Given the description of an element on the screen output the (x, y) to click on. 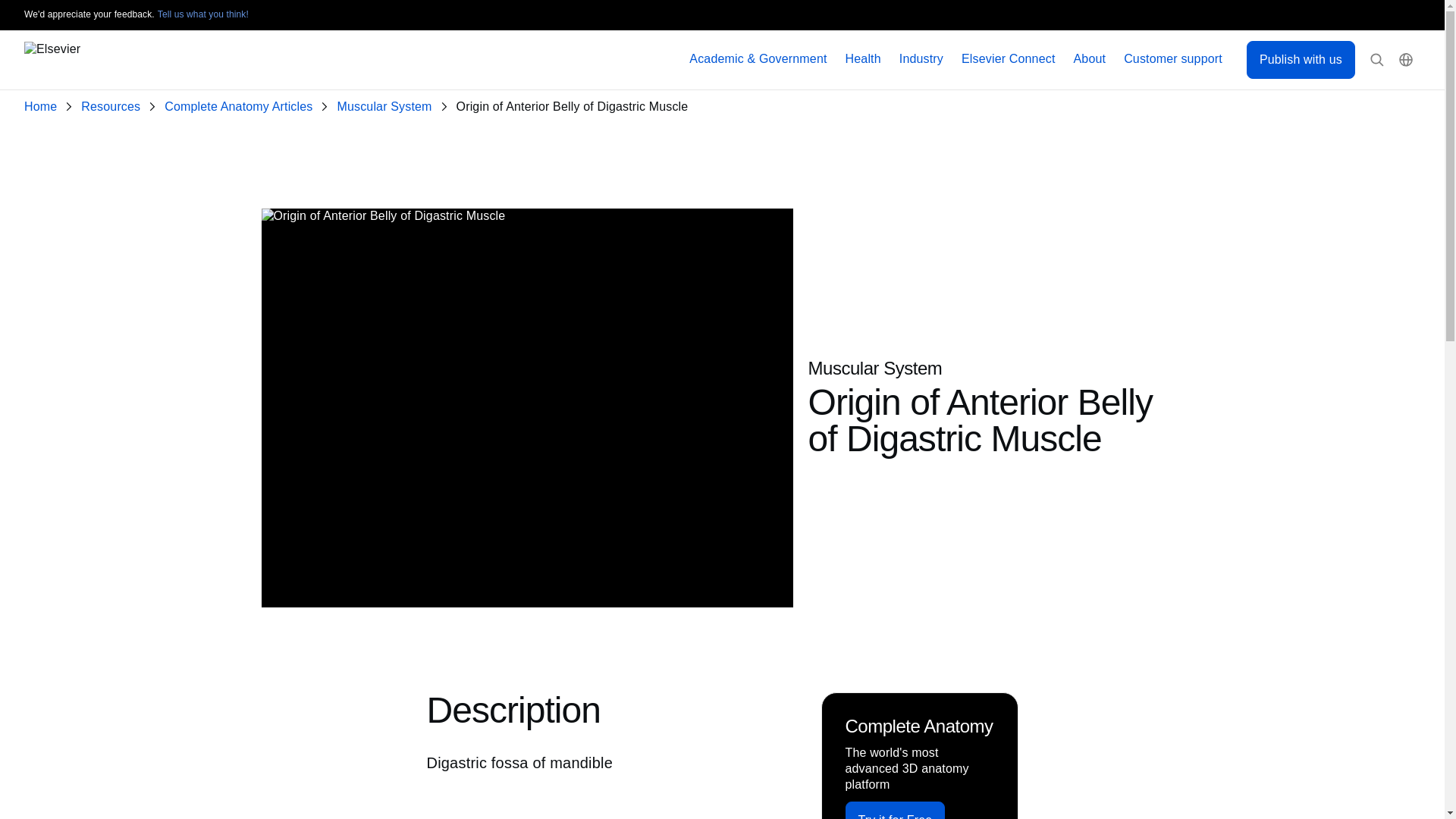
About (1090, 59)
Elsevier Connect (1007, 59)
Industry (921, 59)
Try it for Free (894, 810)
Health (862, 59)
Muscular System (387, 107)
Home (43, 107)
Complete Anatomy Articles (241, 107)
Location Selector (1406, 59)
Open Search (1376, 59)
Resources (114, 107)
Customer support (1173, 59)
Publish with us (1300, 59)
